Given the description of an element on the screen output the (x, y) to click on. 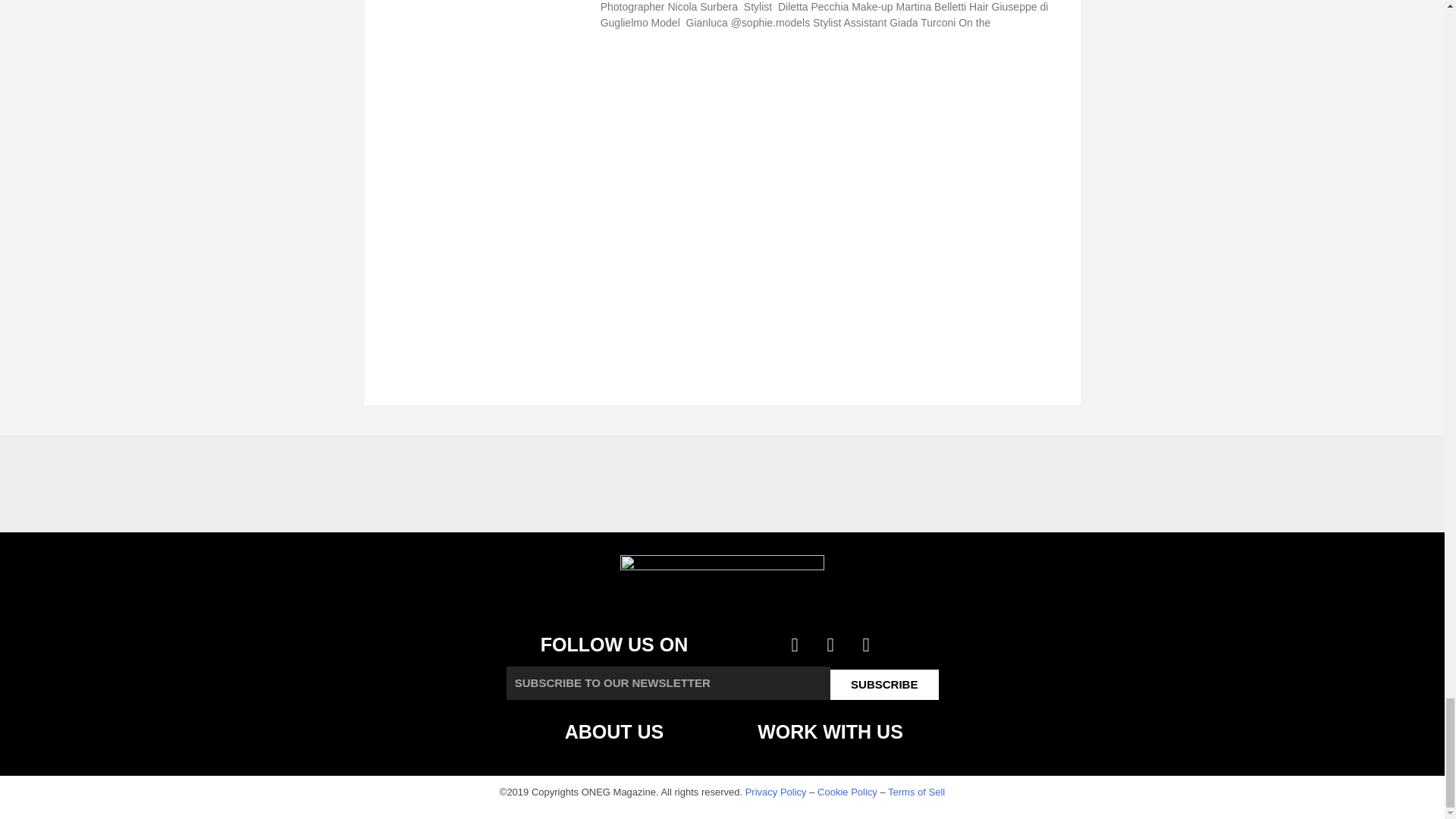
WORK WITH US (829, 731)
Terms of Sell (916, 791)
Twitter (830, 644)
ABOUT US (613, 731)
Cookie Policy (846, 791)
Privacy Policy (775, 791)
Facebook-f (795, 644)
SUBSCRIBE (884, 684)
Instagram (866, 644)
